Given the description of an element on the screen output the (x, y) to click on. 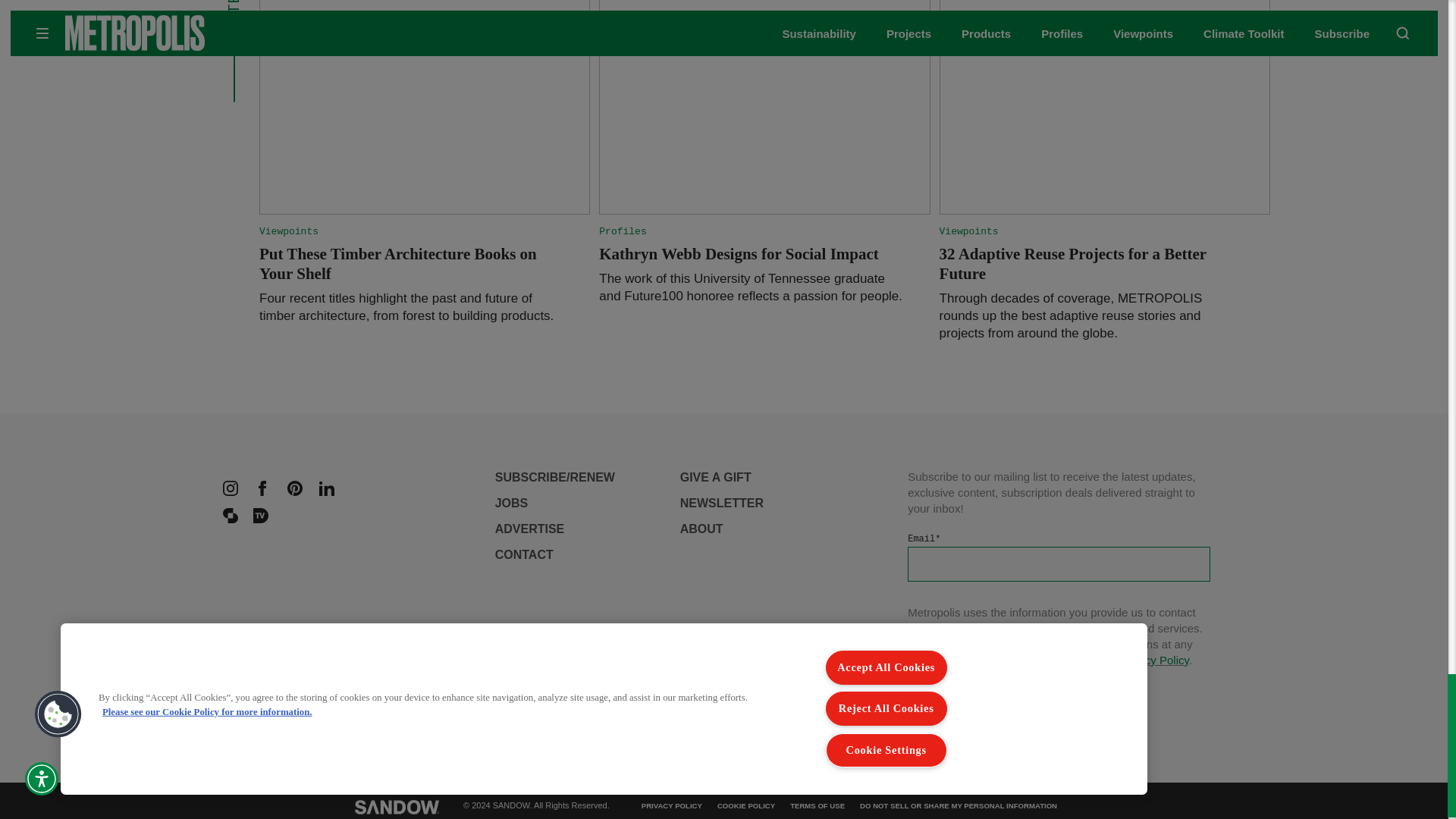
Submit (954, 696)
